Given the description of an element on the screen output the (x, y) to click on. 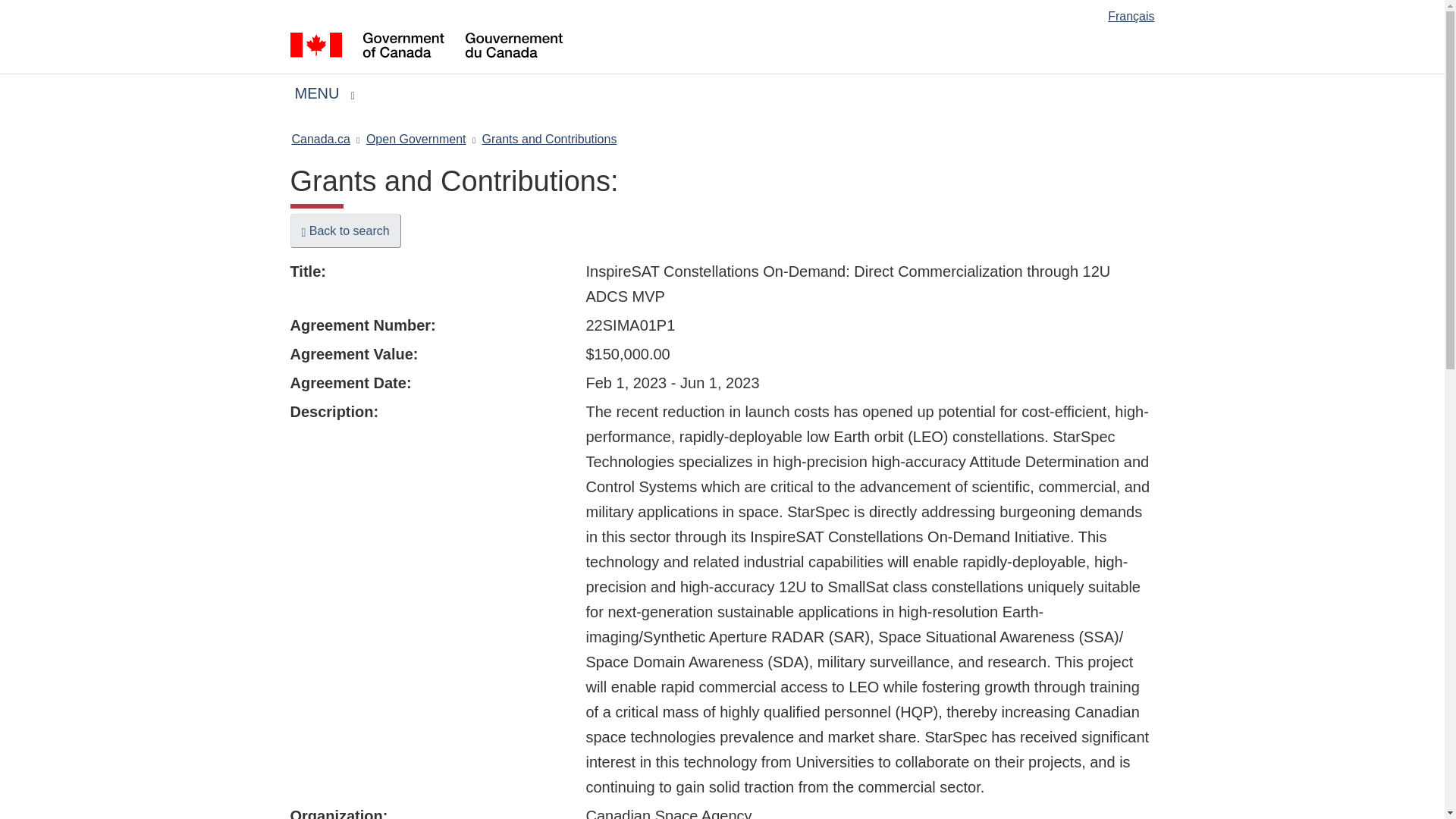
Skip to main content (725, 11)
Back to search (344, 230)
Canada.ca (322, 93)
Open Government (320, 138)
Grants and Contributions (415, 138)
